Given the description of an element on the screen output the (x, y) to click on. 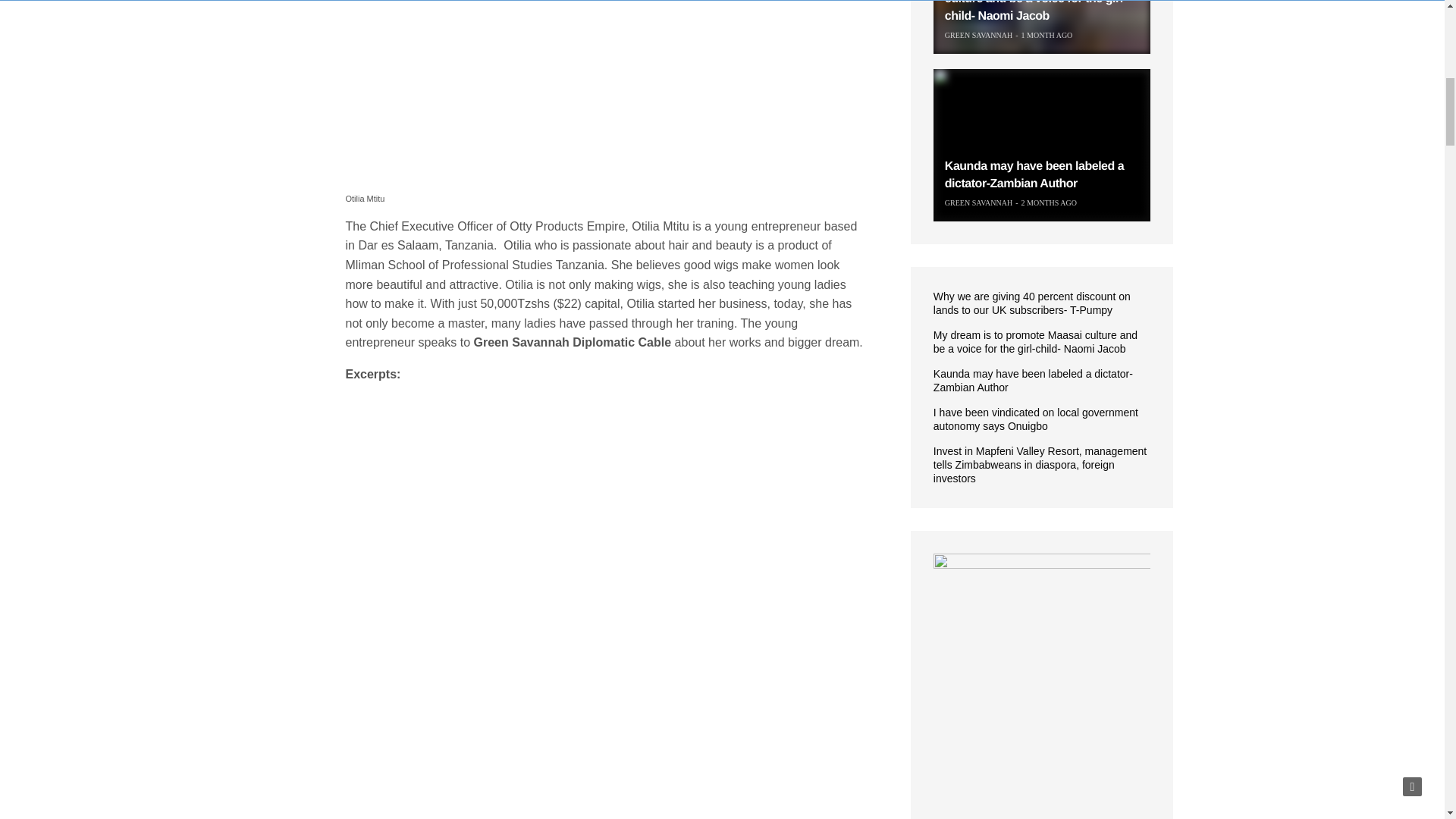
Posts by Green Savannah (977, 35)
Posts by Green Savannah (977, 202)
